Given the description of an element on the screen output the (x, y) to click on. 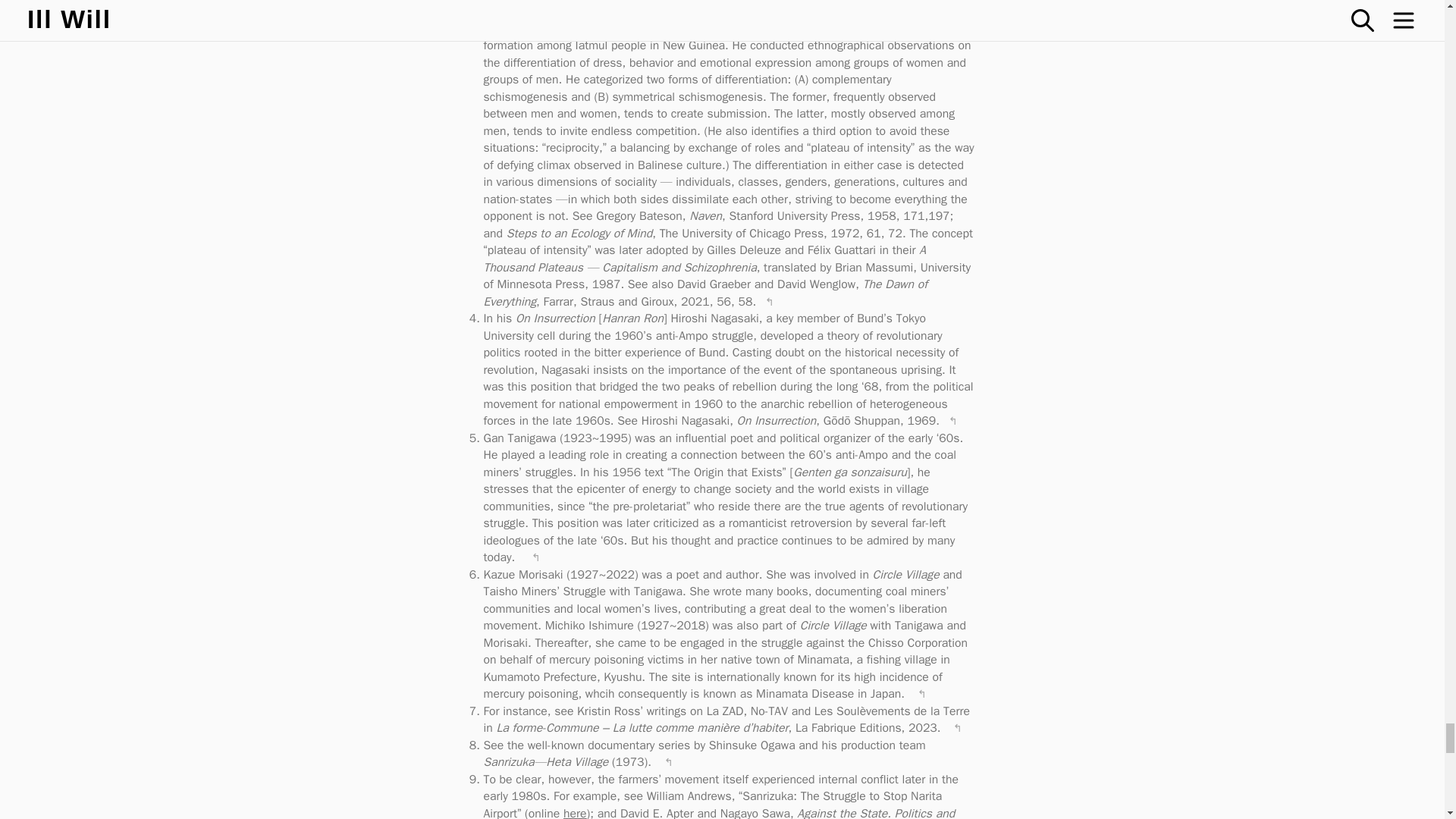
Jump back to footnote 3 in the text (769, 299)
Jump back to footnote 5 in the text (536, 555)
Jump back to footnote 4 in the text (952, 418)
Jump back to footnote 8 in the text (668, 760)
Jump back to footnote 7 in the text (956, 726)
Jump back to footnote 6 in the text (921, 692)
